Given the description of an element on the screen output the (x, y) to click on. 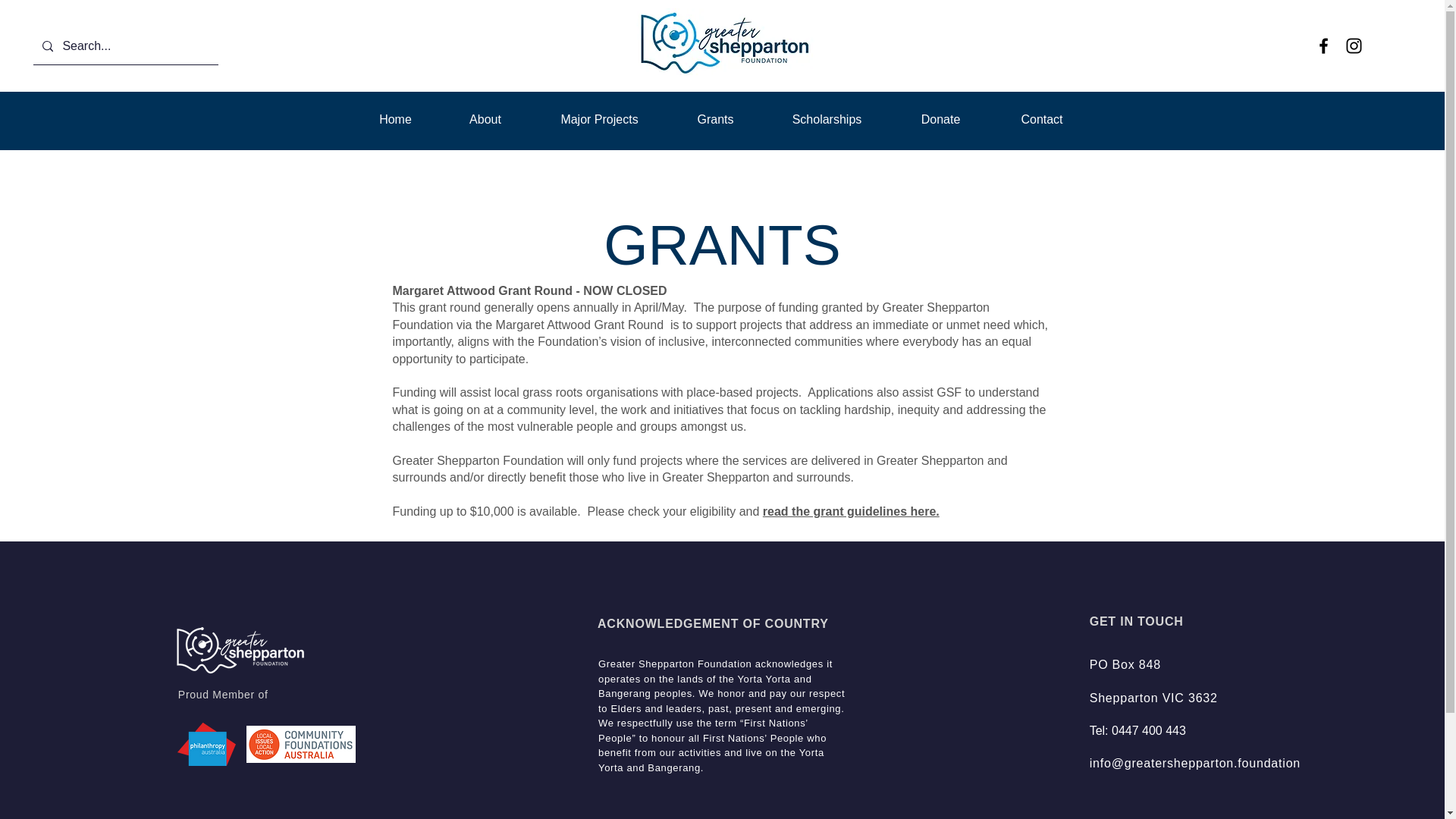
Grants (715, 119)
Contact (1042, 119)
Major Projects (599, 119)
Scholarships (826, 119)
Home (394, 119)
About (484, 119)
read the grant guidelines here. (850, 511)
Donate (940, 119)
